Given the description of an element on the screen output the (x, y) to click on. 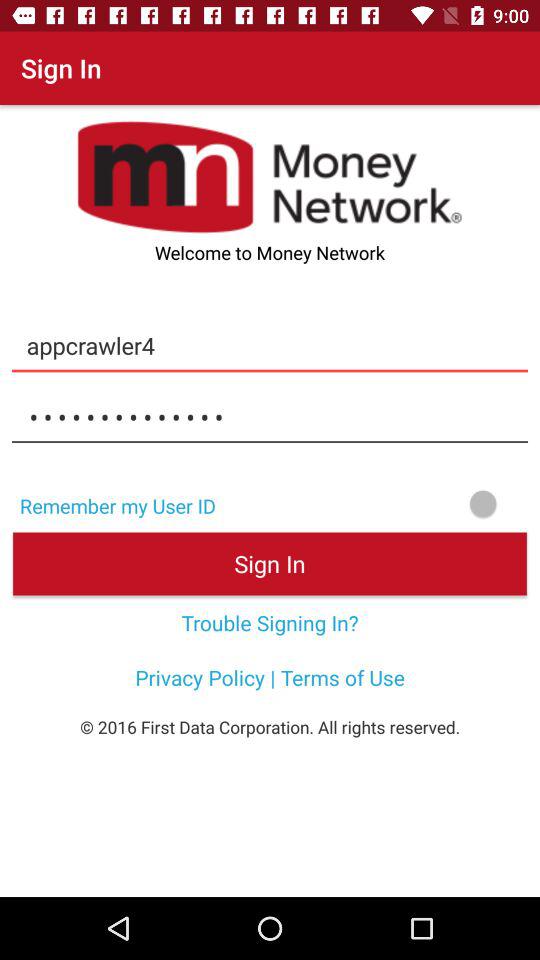
swipe to privacy policy terms item (270, 677)
